Given the description of an element on the screen output the (x, y) to click on. 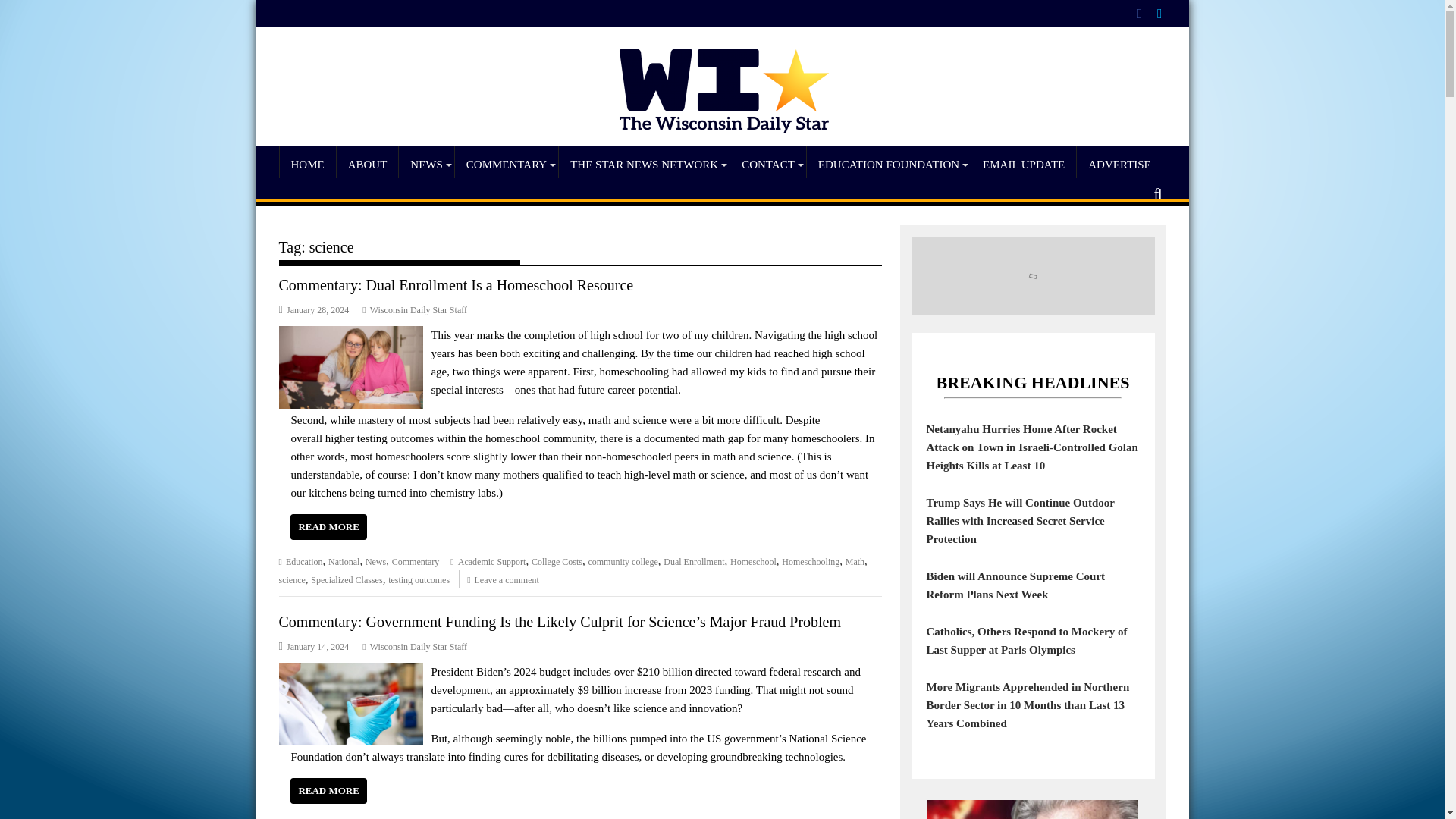
NEWS (426, 164)
CONTACT (768, 164)
EDUCATION FOUNDATION (888, 164)
THE STAR NEWS NETWORK (644, 164)
ABOUT (367, 164)
Commentary: Dual Enrollment Is a Homeschool Resource (351, 335)
COMMENTARY (505, 164)
HOME (306, 164)
